Given the description of an element on the screen output the (x, y) to click on. 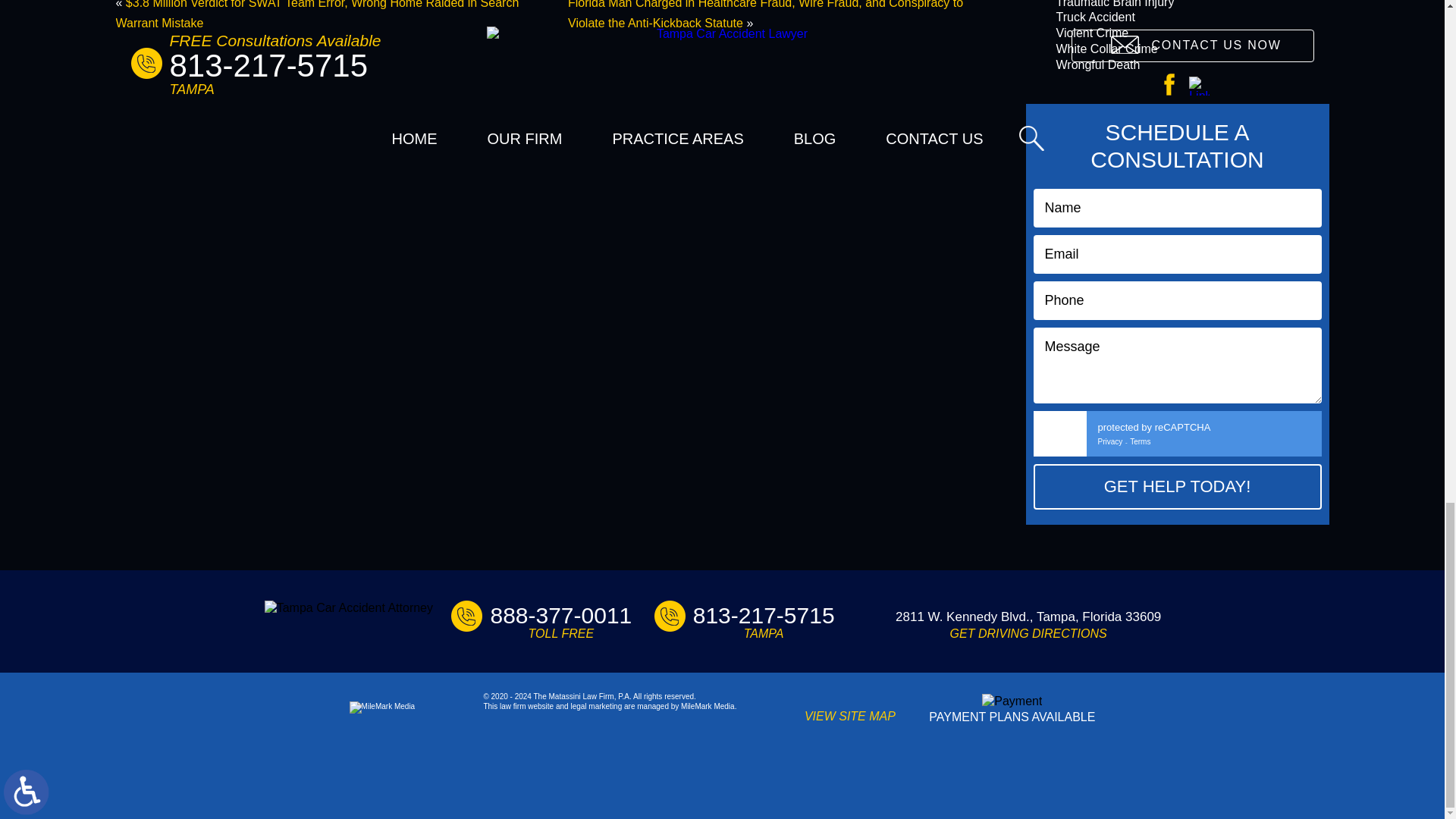
Get Help Today! (1176, 486)
